Given the description of an element on the screen output the (x, y) to click on. 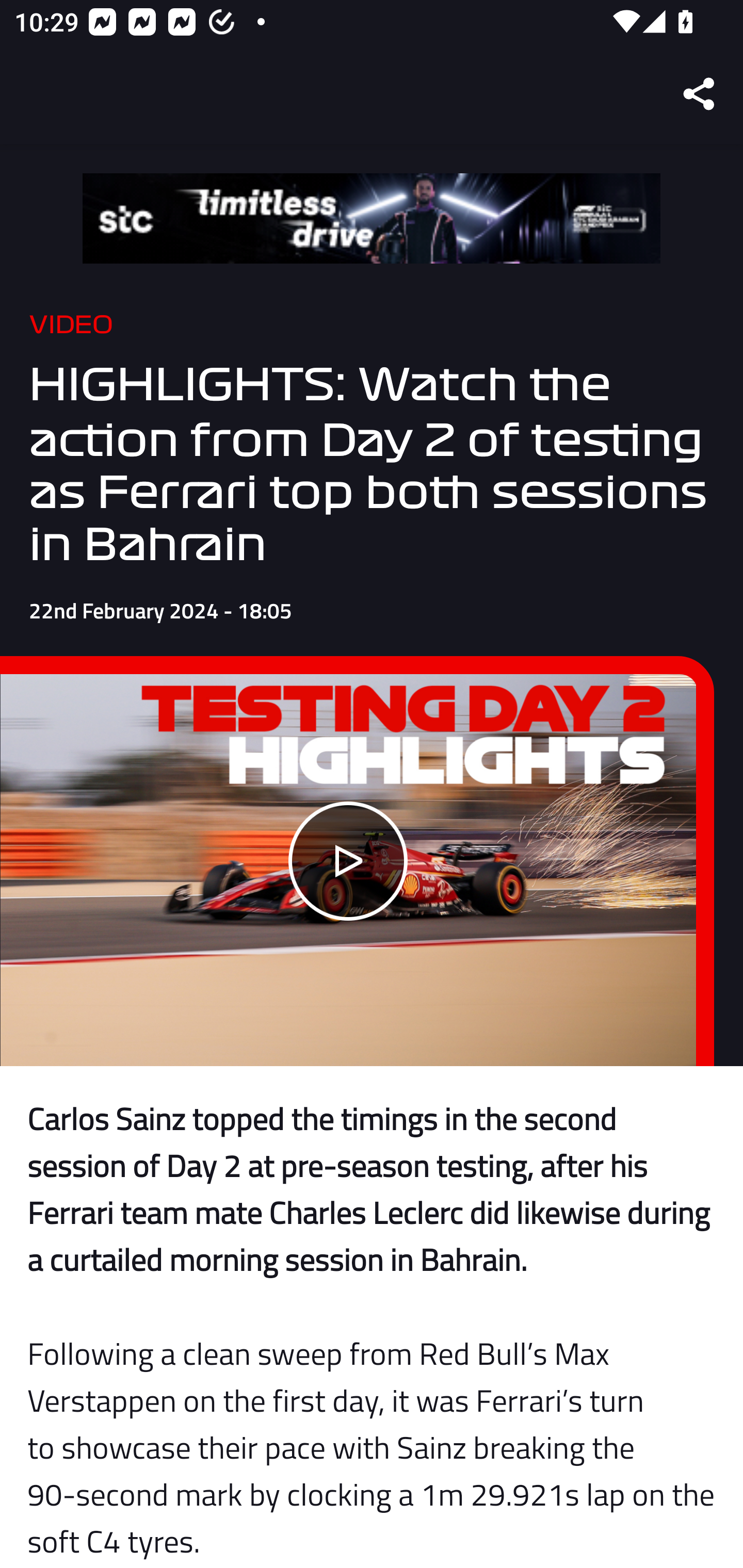
Share (699, 93)
who-we-are (371, 218)
